Given the description of an element on the screen output the (x, y) to click on. 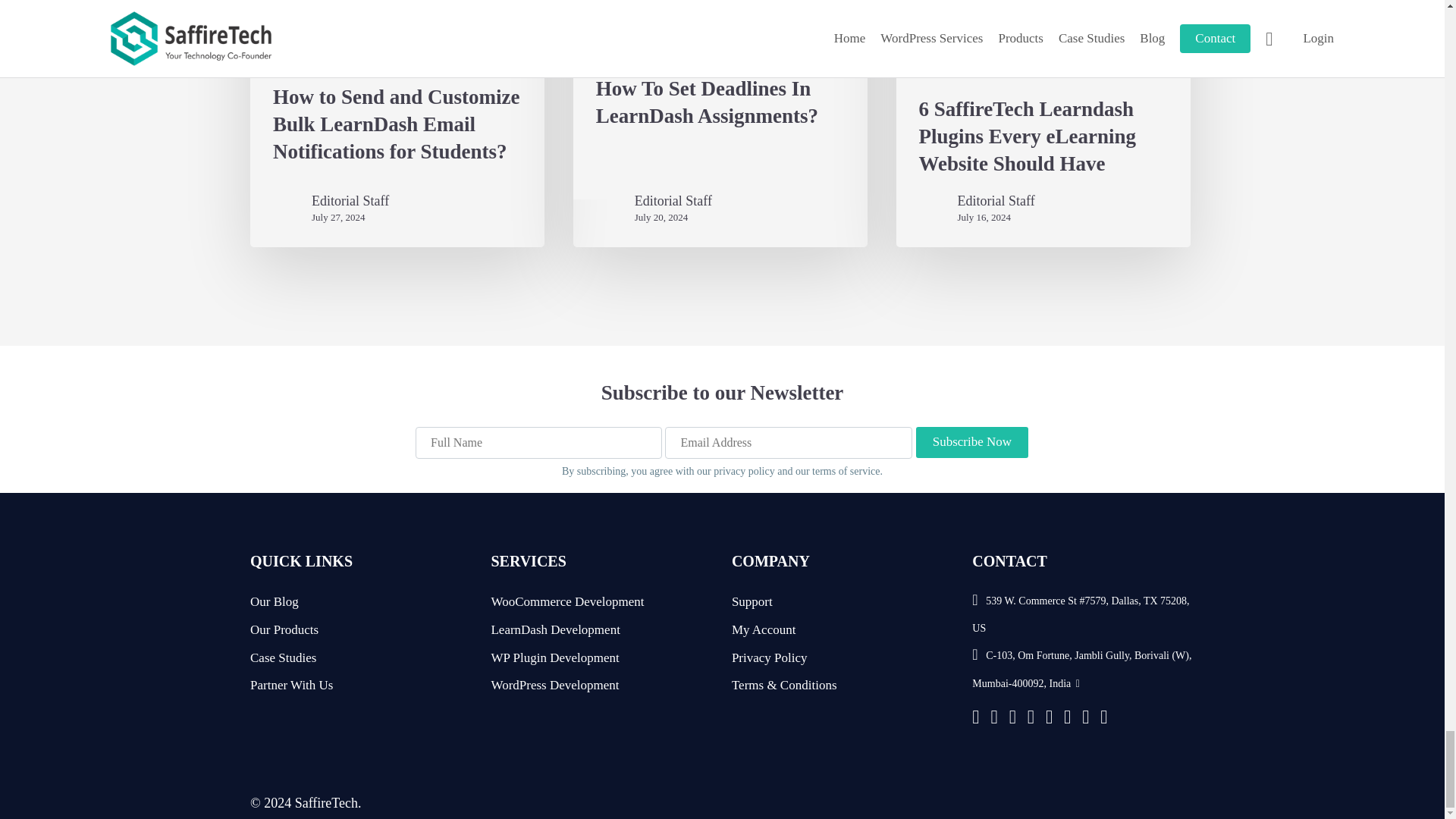
Instagram (1048, 718)
Facebook (1030, 718)
LinkedIn (993, 718)
Twitter (1012, 718)
Email (1085, 718)
Phone (1103, 718)
Subscribe Now (972, 441)
Skype (1067, 718)
WordPress (975, 718)
